Given the description of an element on the screen output the (x, y) to click on. 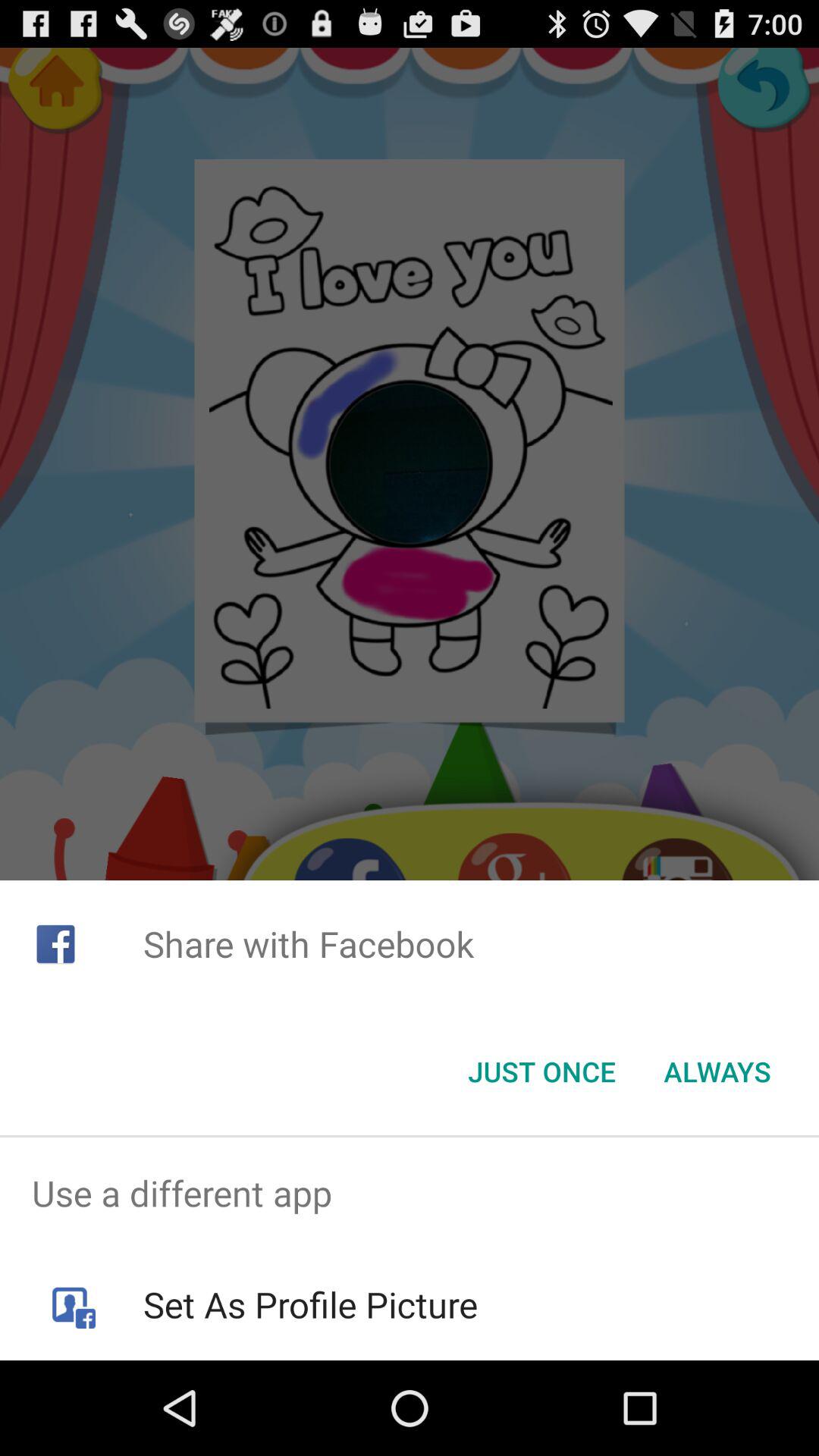
scroll until just once (541, 1071)
